Given the description of an element on the screen output the (x, y) to click on. 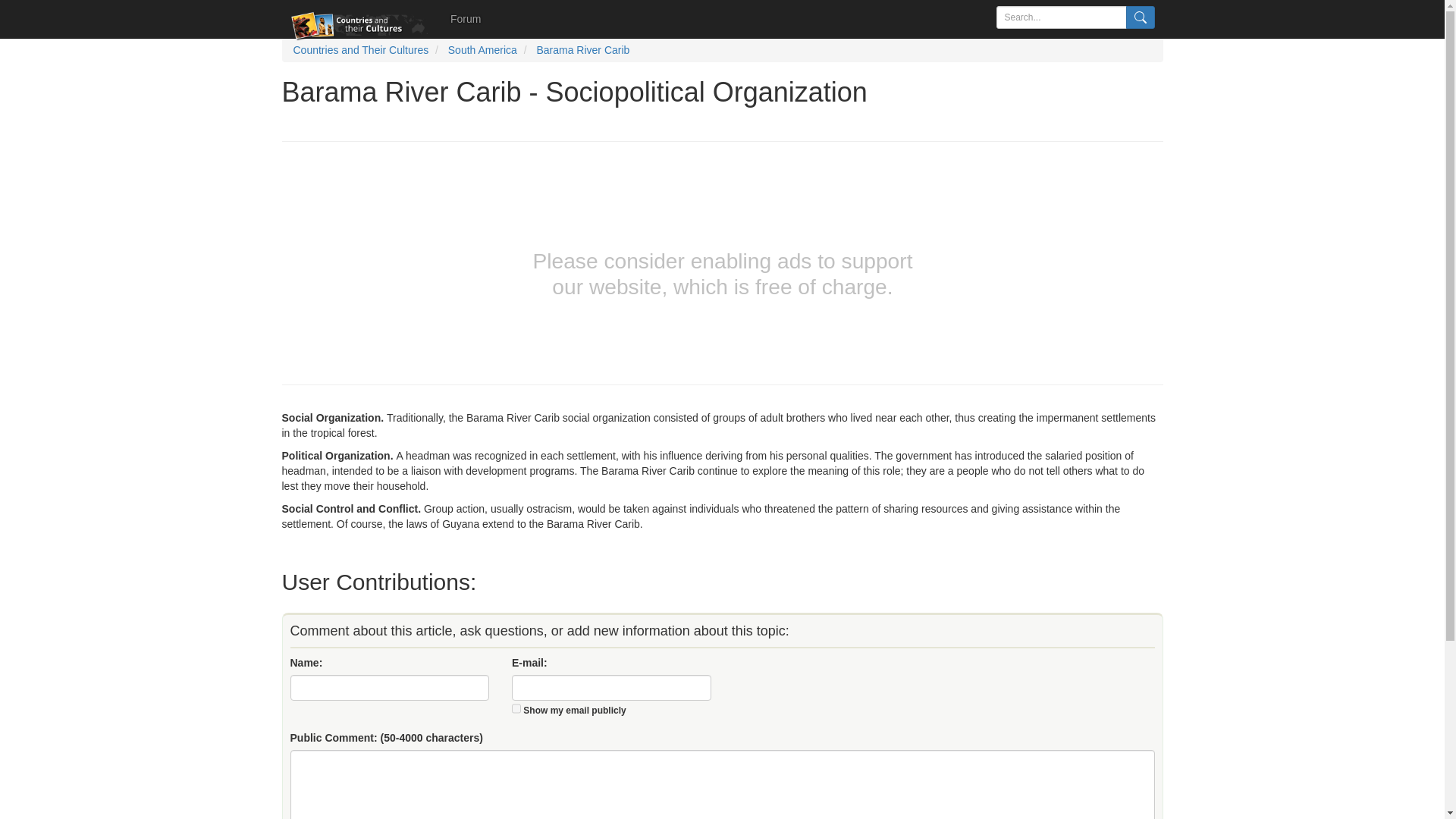
Barama River Carib (581, 50)
Forum (465, 18)
1 (516, 708)
South America (482, 50)
Countries and Their Cultures (360, 50)
